Given the description of an element on the screen output the (x, y) to click on. 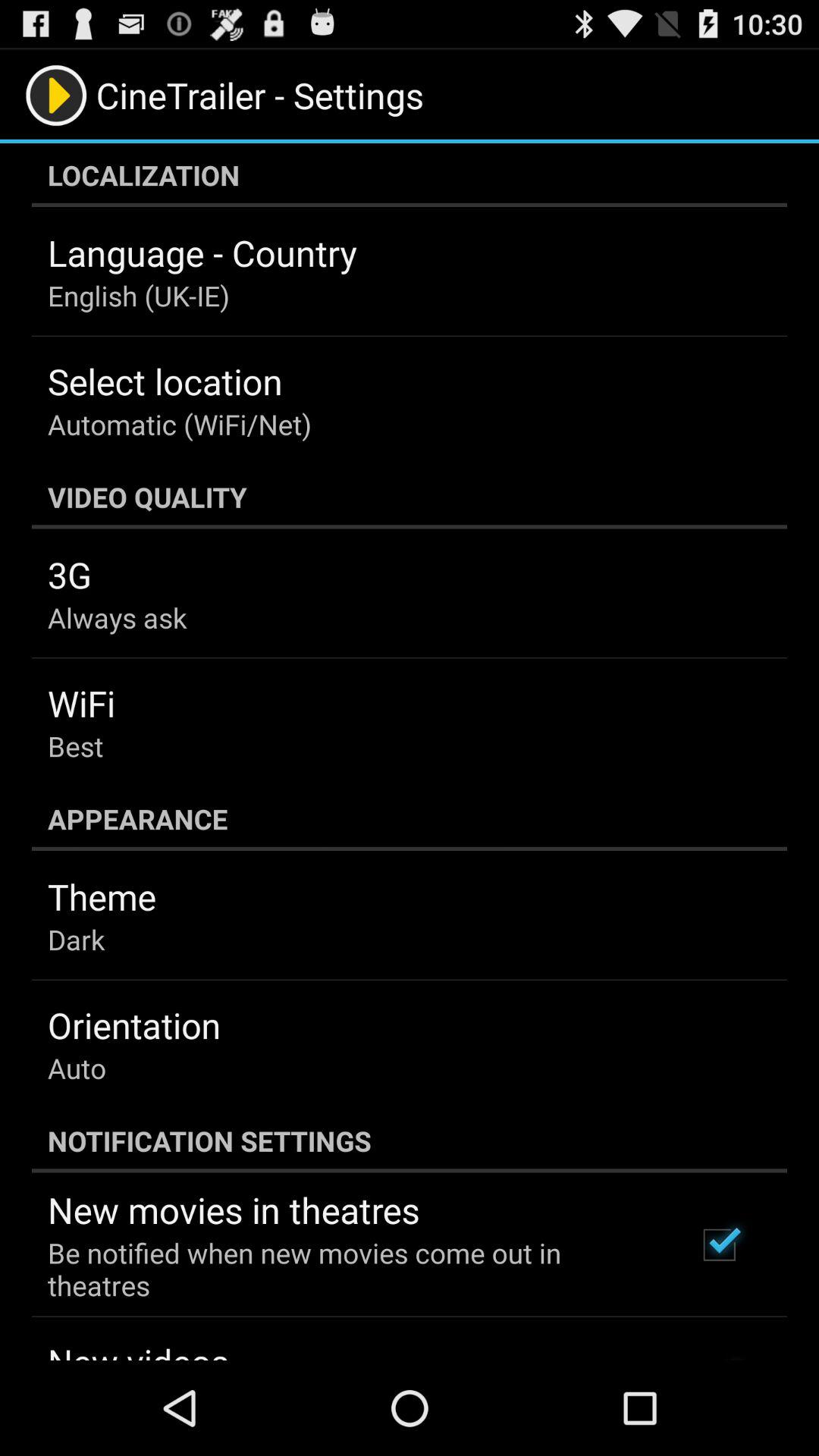
scroll to the dark (76, 939)
